Given the description of an element on the screen output the (x, y) to click on. 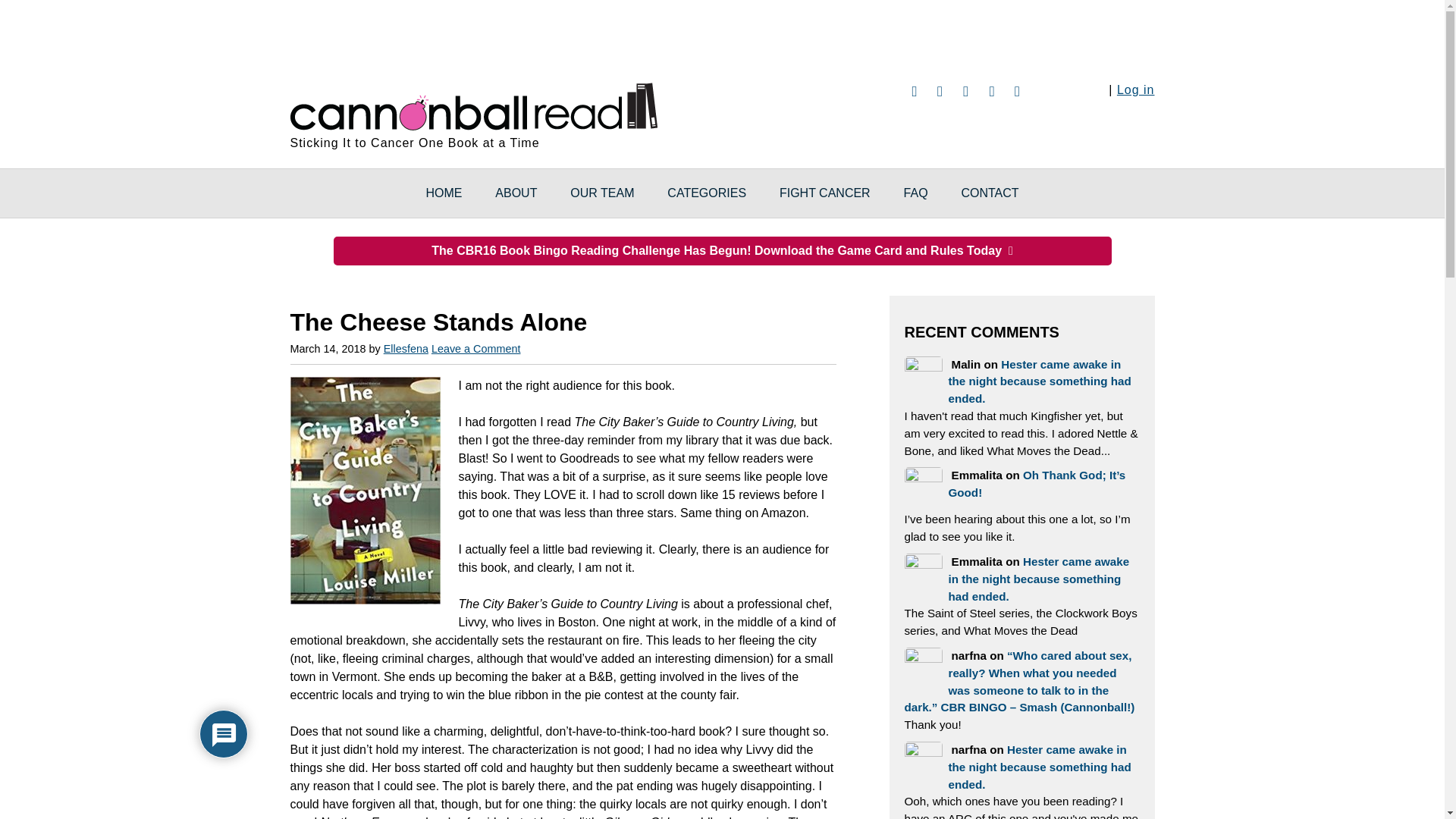
FAQ (915, 192)
CONTACT (988, 192)
CATEGORIES (706, 192)
CANNONBALL READ 16 (473, 103)
FIGHT CANCER (824, 192)
HOME (443, 192)
OUR TEAM (601, 192)
Log in (1135, 89)
ABOUT (515, 192)
